Given the description of an element on the screen output the (x, y) to click on. 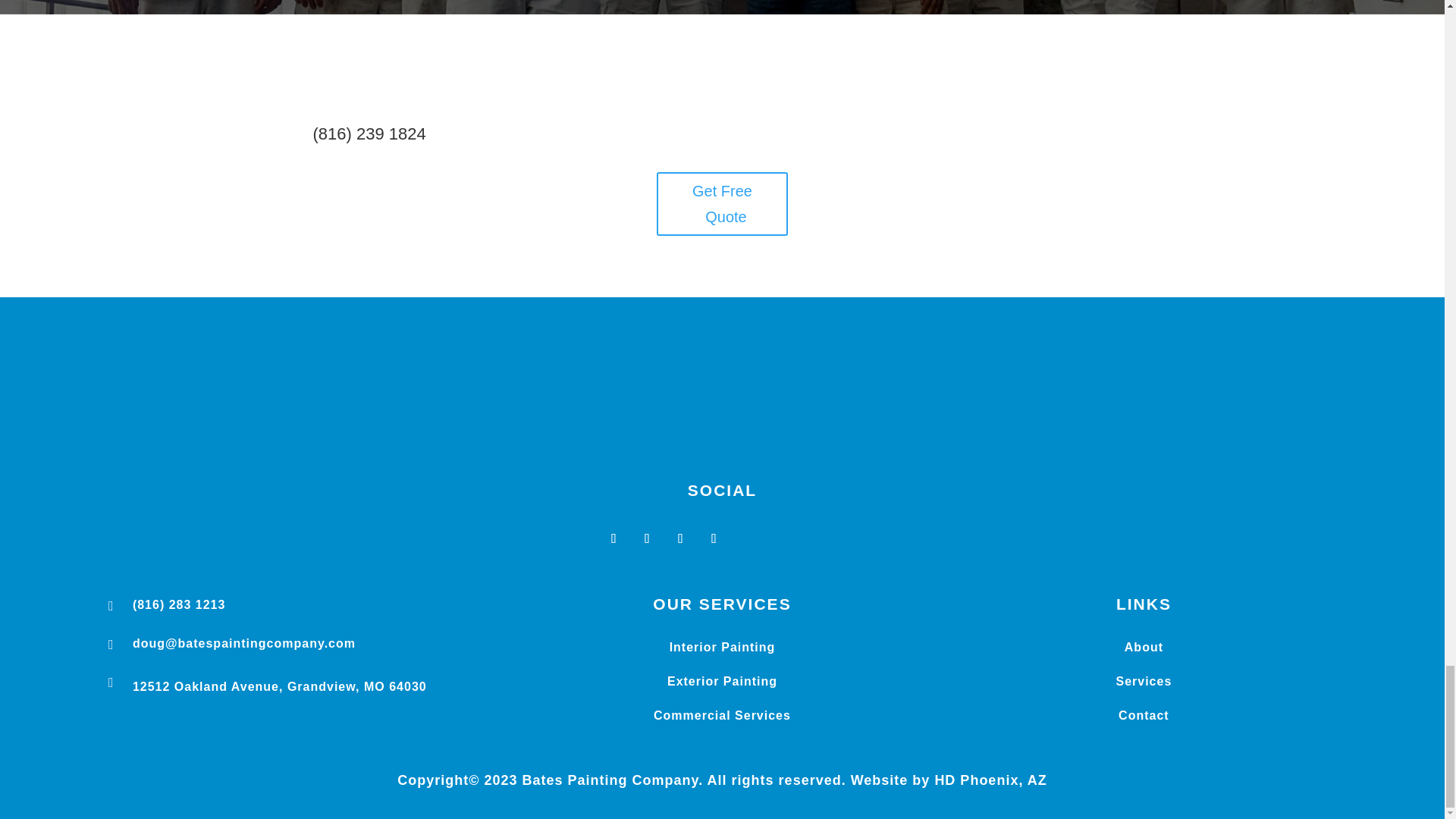
Exterior Painting (721, 680)
Get Free Quote (721, 203)
About (1143, 646)
Services (1143, 680)
Interior Painting (722, 646)
Contact (1143, 715)
Commercial Services (721, 715)
HD Phoenix, AZ (990, 780)
